Given the description of an element on the screen output the (x, y) to click on. 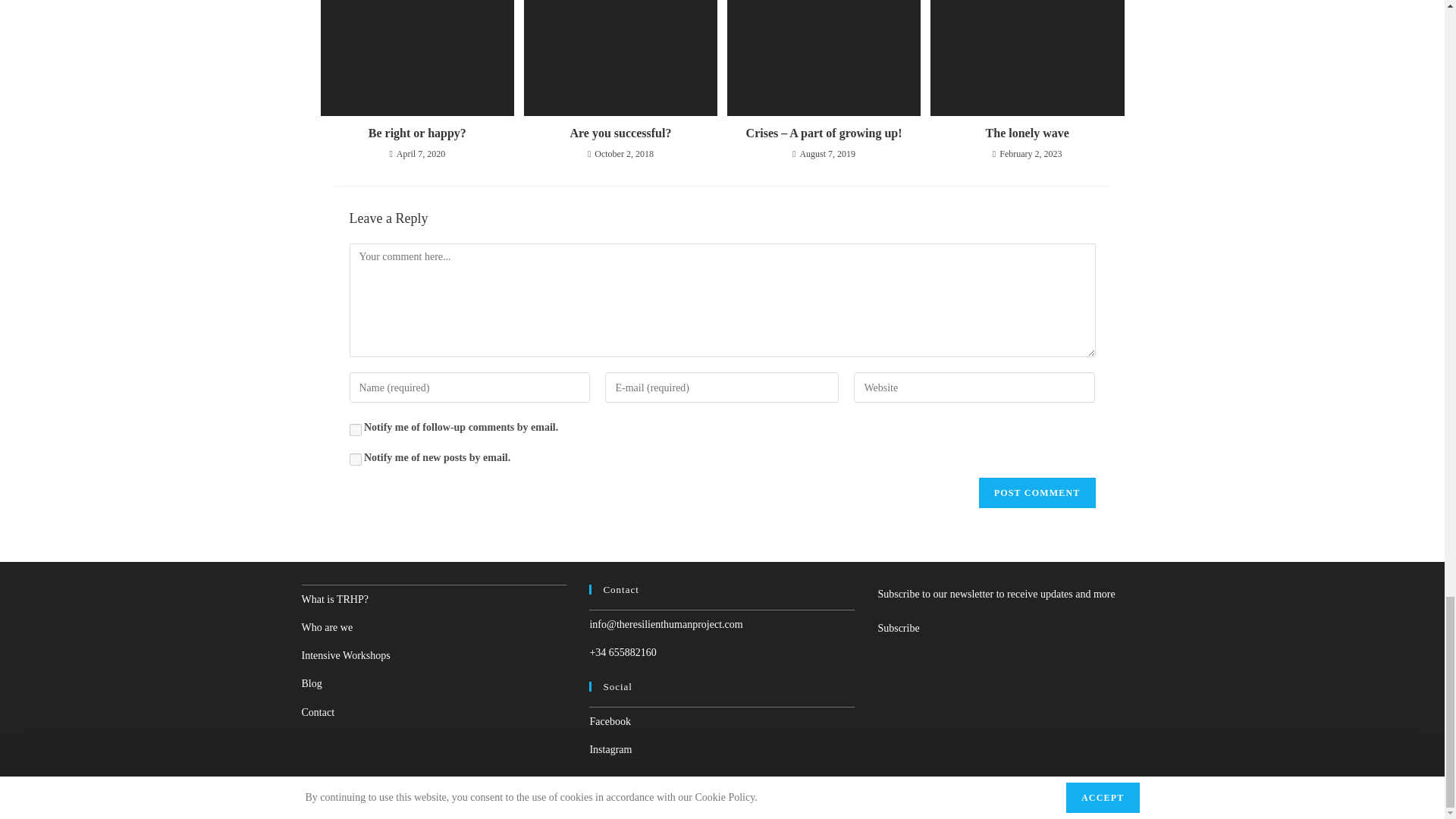
subscribe (355, 459)
Post Comment (1037, 492)
The lonely wave (1027, 133)
Facebook (609, 721)
Blog (311, 683)
Instagram (610, 749)
What is TRHP? (334, 599)
Subscribe (897, 627)
virtualpoint.es (818, 802)
Who are we (327, 627)
Intensive Workshops (345, 655)
Post Comment (1037, 492)
Are you successful? (620, 133)
subscribe (355, 429)
Contact (317, 712)
